Given the description of an element on the screen output the (x, y) to click on. 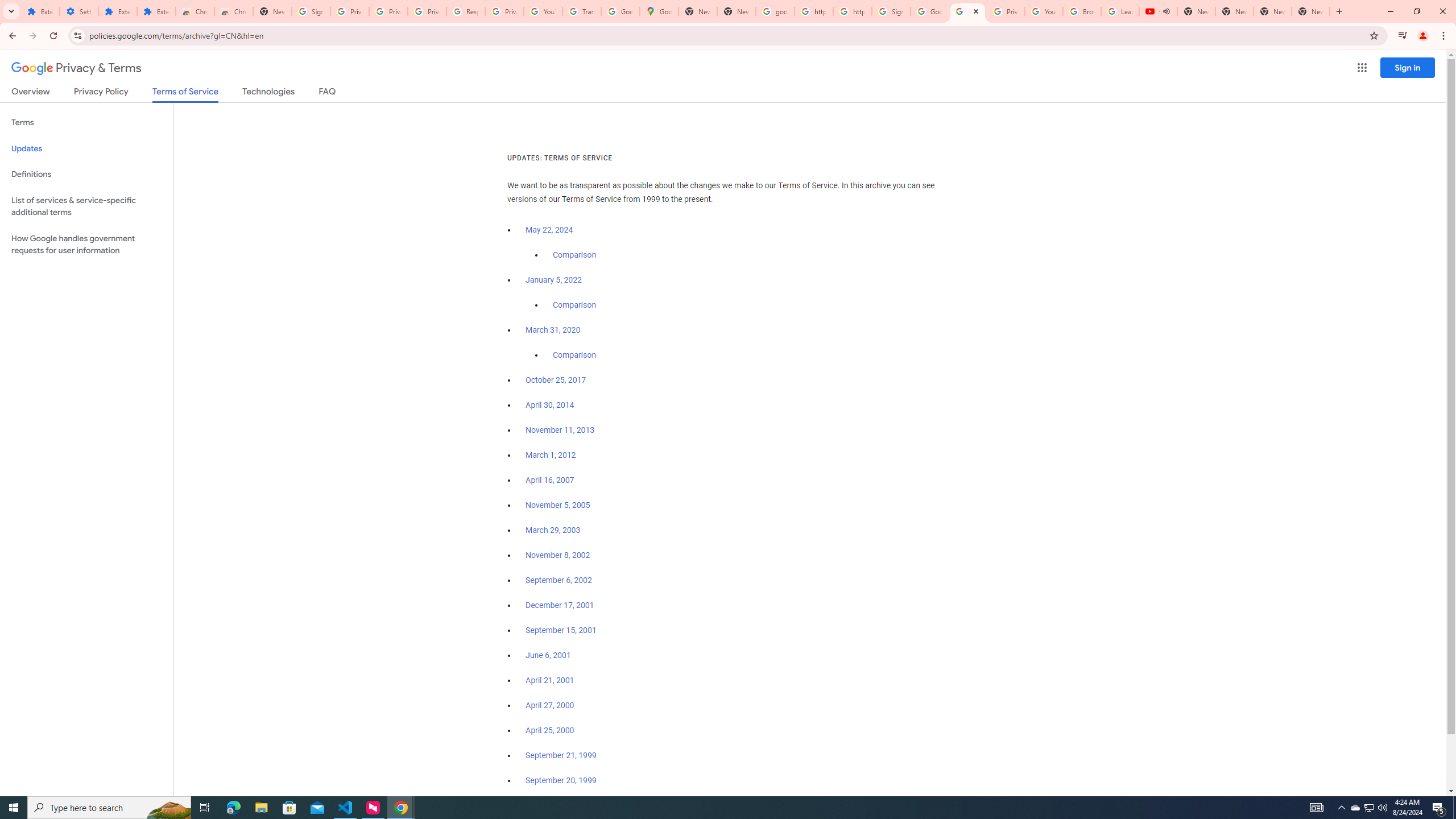
New Tab (272, 11)
March 31, 2020 (552, 330)
April 25, 2000 (550, 729)
Sign in - Google Accounts (310, 11)
New Tab (1311, 11)
May 22, 2024 (549, 230)
April 27, 2000 (550, 705)
https://scholar.google.com/ (852, 11)
